Given the description of an element on the screen output the (x, y) to click on. 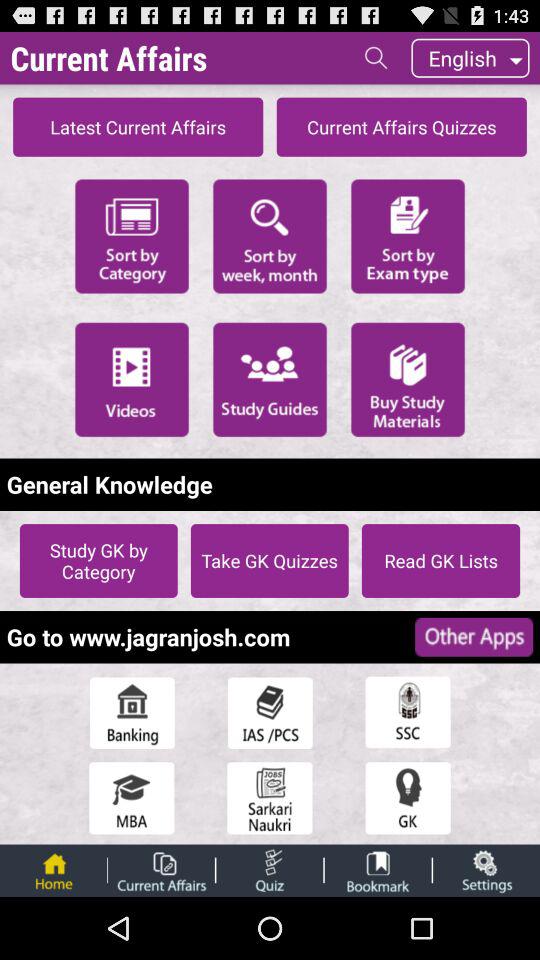
buy study materials (407, 379)
